Given the description of an element on the screen output the (x, y) to click on. 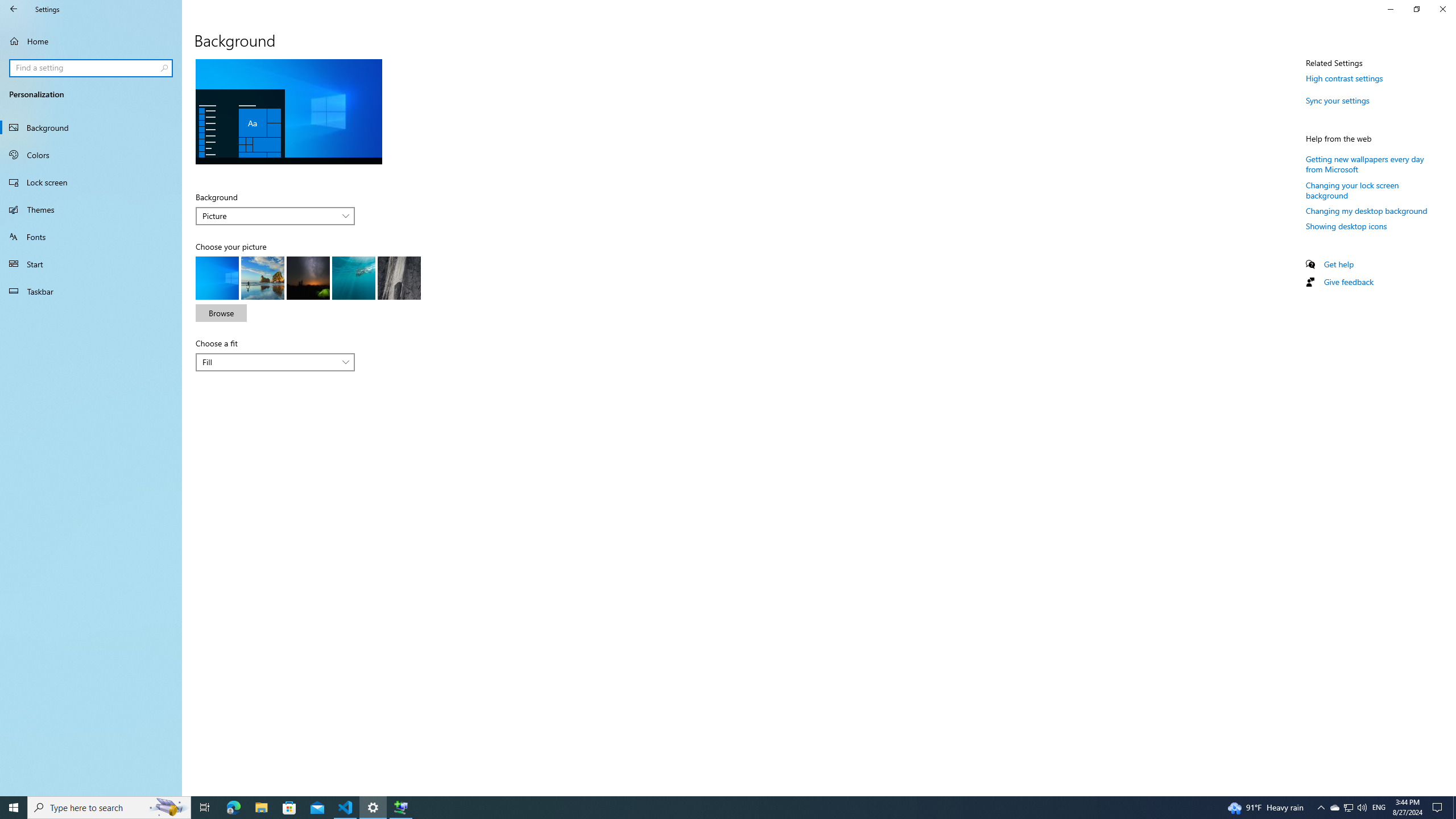
Search box, Find a setting (91, 67)
Browse (221, 312)
Extensible Wizards Host Process - 1 running window (400, 807)
Choose a fit (275, 361)
Colors (91, 154)
High contrast settings (1344, 77)
Give feedback (1348, 281)
Getting new wallpapers every day from Microsoft (1364, 163)
